Given the description of an element on the screen output the (x, y) to click on. 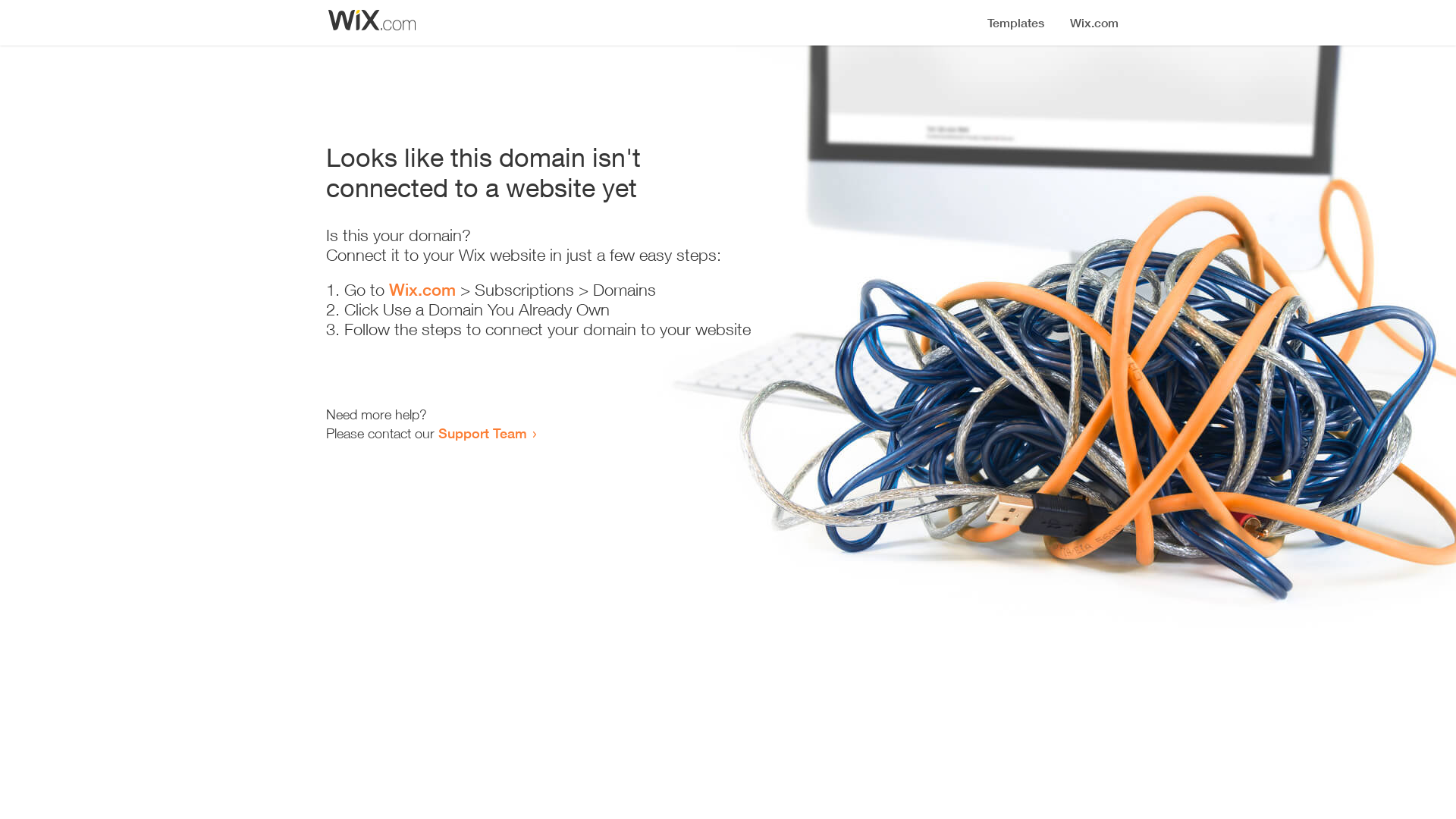
Support Team Element type: text (482, 432)
Wix.com Element type: text (422, 289)
